Given the description of an element on the screen output the (x, y) to click on. 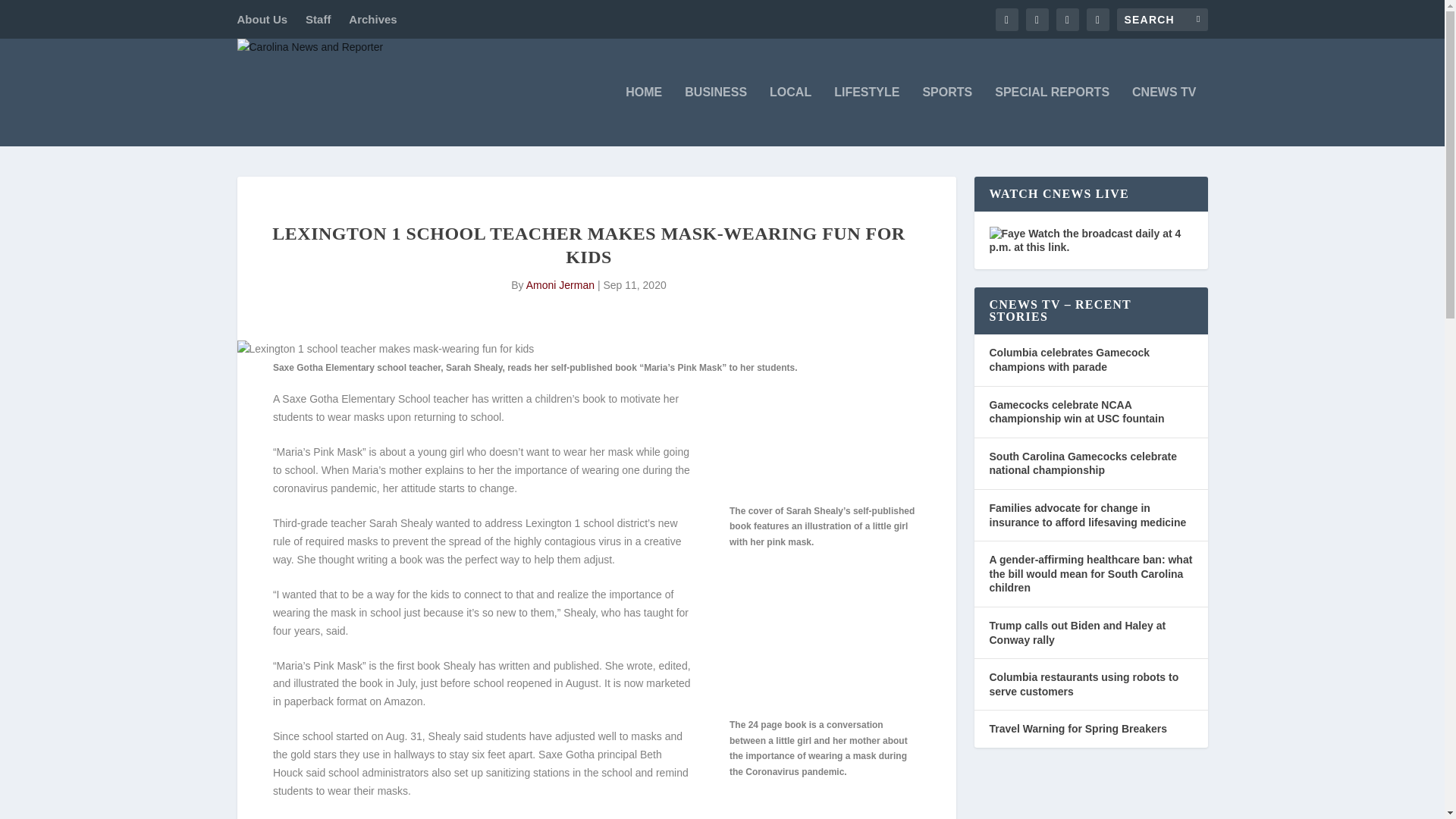
Search for: (1161, 18)
SPECIAL REPORTS (1051, 116)
About Us (260, 19)
LIFESTYLE (866, 116)
LOCAL (790, 116)
CNEWS TV (1163, 116)
Archives (372, 19)
Columbia celebrates Gamecock champions with parade (1069, 359)
HOME (644, 116)
South Carolina Gamecocks celebrate national championship (1082, 463)
Watch the broadcast daily at 4 p.m. at this link. (1084, 240)
BUSINESS (715, 116)
SPORTS (946, 116)
Staff (317, 19)
